Given the description of an element on the screen output the (x, y) to click on. 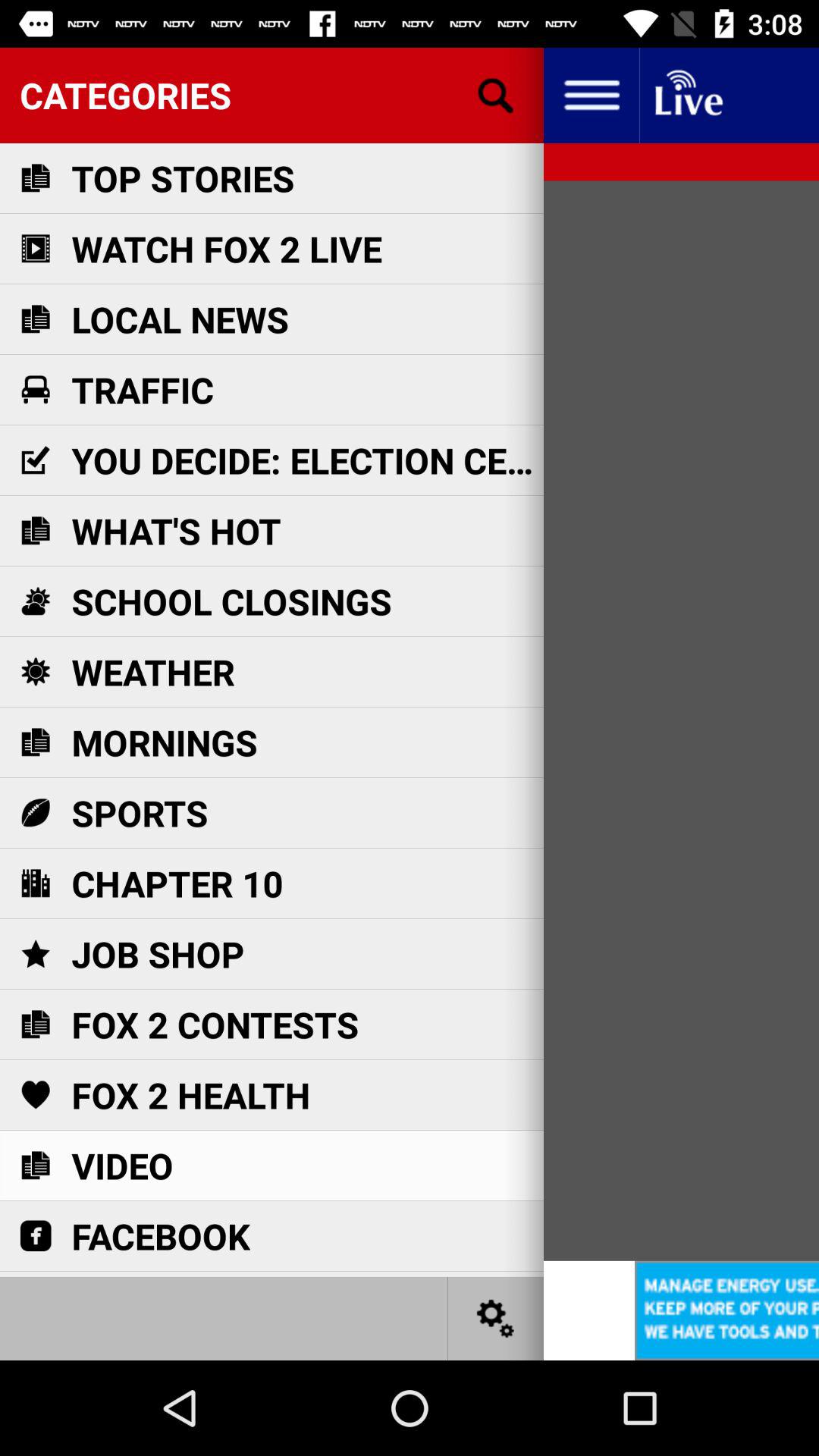
searching information (495, 95)
